Given the description of an element on the screen output the (x, y) to click on. 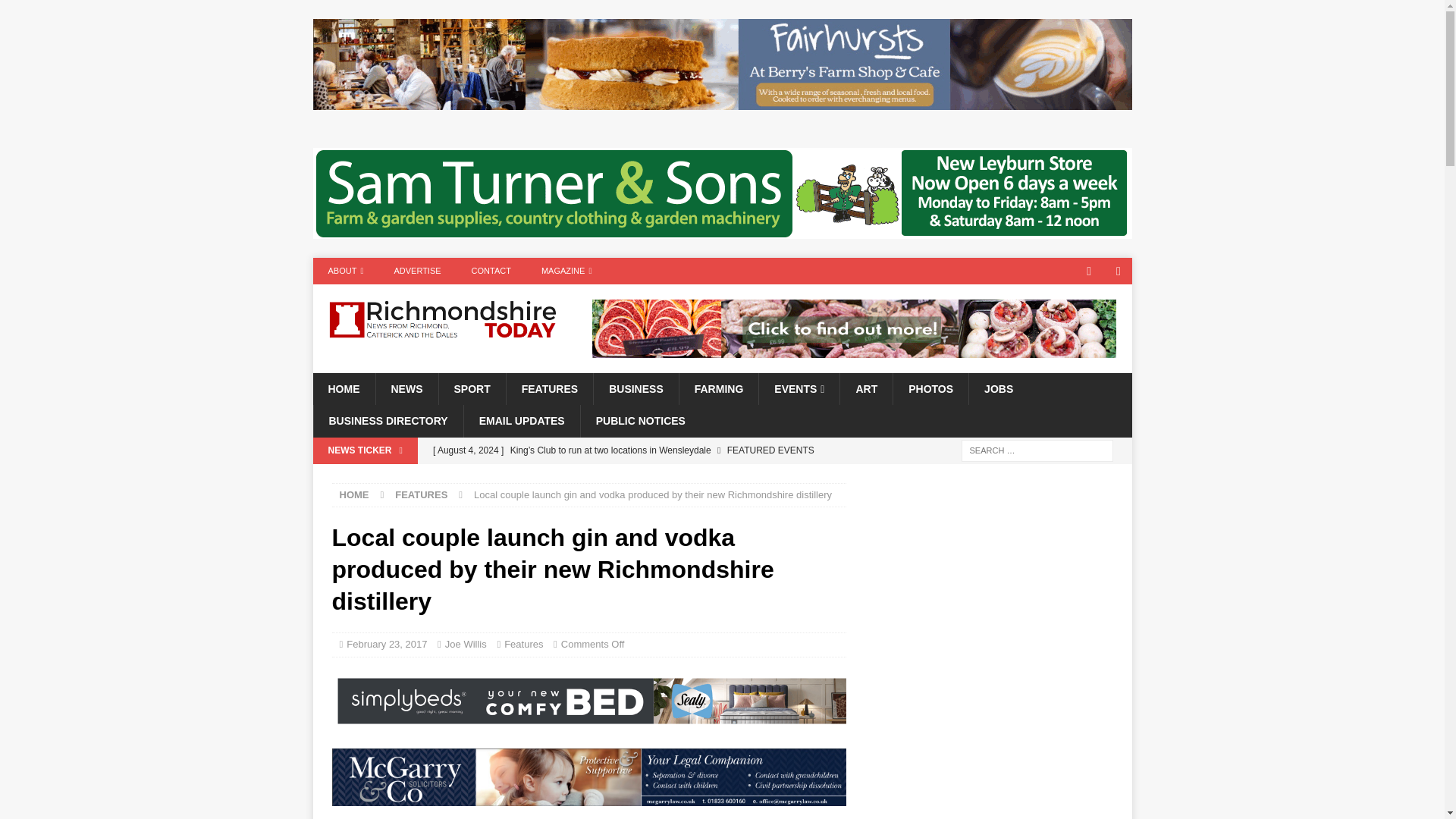
JOBS (997, 388)
Search (56, 11)
Runners take part in final Stately Trails race of season (634, 475)
EMAIL UPDATES (521, 420)
MAGAZINE (566, 270)
HOME (354, 494)
NEWS (406, 388)
SPORT (471, 388)
HOME (343, 388)
ART (866, 388)
PUBLIC NOTICES (639, 420)
ABOUT (345, 270)
PHOTOS (930, 388)
EVENTS (799, 388)
FARMING (718, 388)
